Given the description of an element on the screen output the (x, y) to click on. 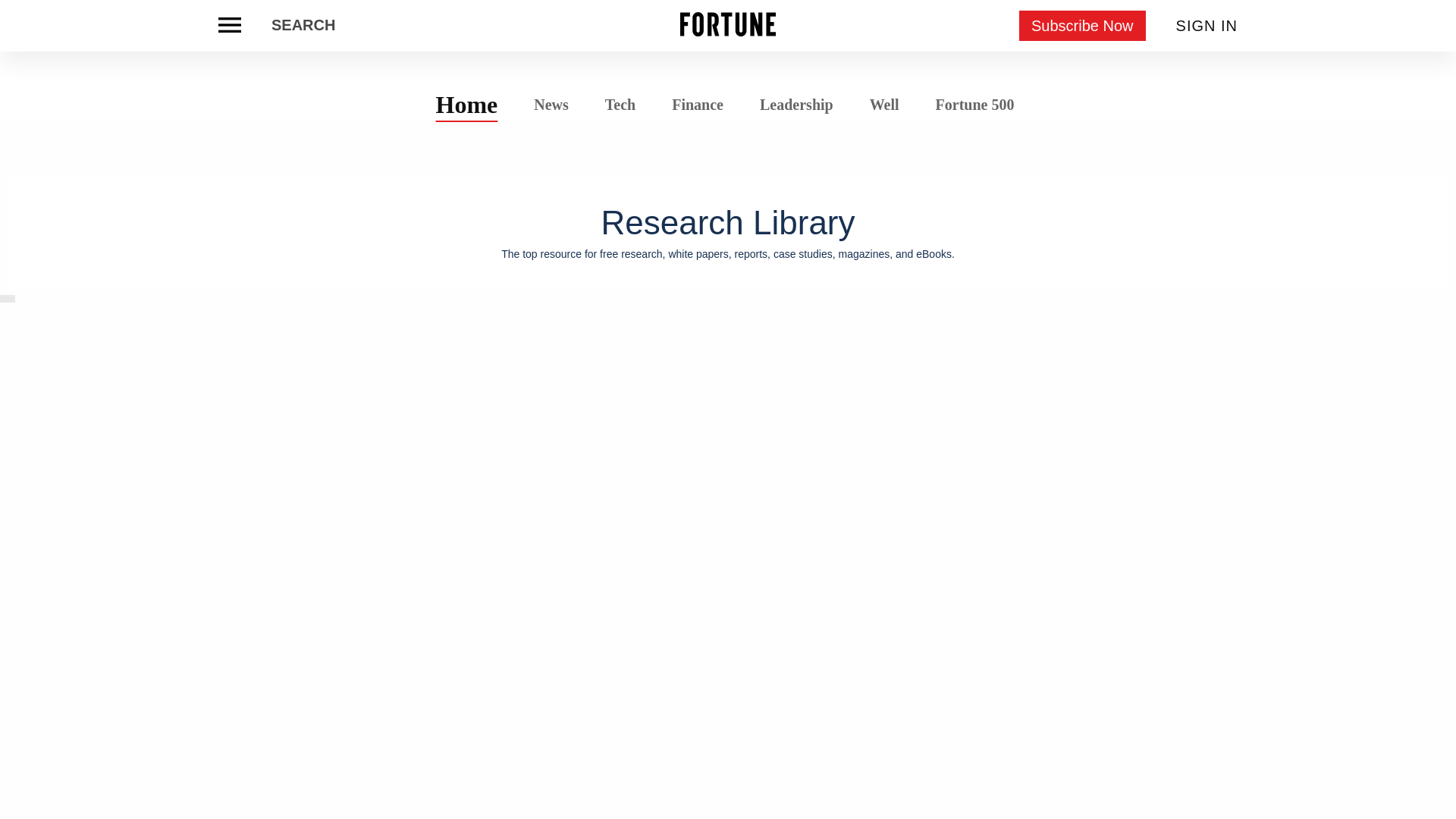
Well (884, 104)
Fortune 500 (974, 103)
Home (466, 103)
Leadership (796, 104)
Finance (697, 104)
News (550, 103)
Tech (619, 104)
Subscribe Now (1082, 25)
SEARCH (302, 25)
SIGN IN (1206, 25)
